Given the description of an element on the screen output the (x, y) to click on. 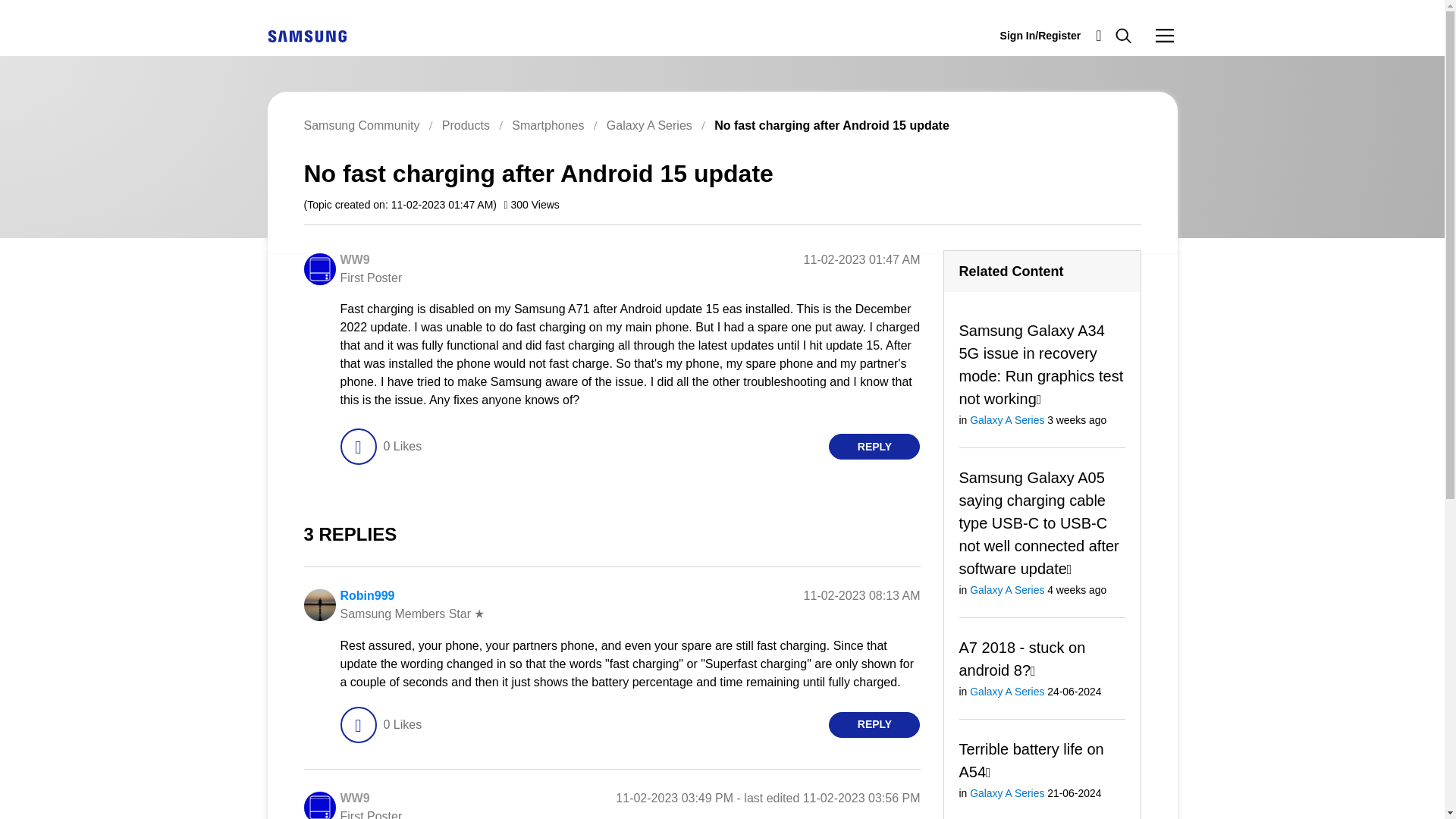
Galaxy A Series (650, 124)
English (306, 34)
Products (465, 124)
Smartphones (547, 124)
REPLY (874, 446)
The total number of likes this post has received. (401, 446)
Robin999 (366, 594)
WW9 (354, 259)
Click here to give likes to this post. (357, 446)
Community (1164, 35)
REPLY (874, 724)
WW9 (354, 797)
English (306, 36)
WW9 (318, 269)
Samsung Community (360, 124)
